Given the description of an element on the screen output the (x, y) to click on. 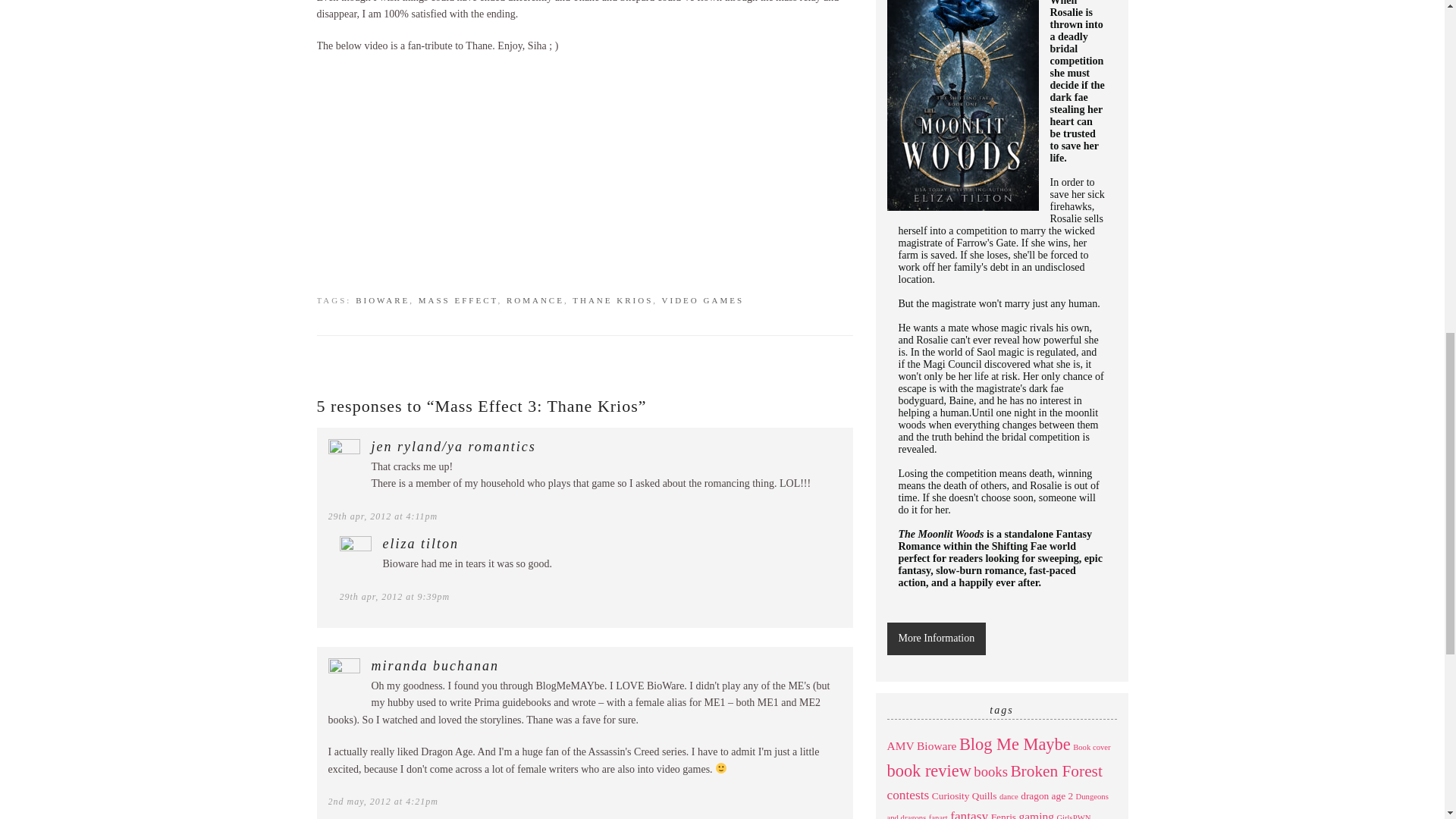
THANE KRIOS (612, 299)
miranda buchanan (435, 665)
eliza tilton (419, 543)
ROMANCE (535, 299)
29th apr, 2012 at 4:11pm (382, 516)
MASS EFFECT (458, 299)
2nd may, 2012 at 4:21pm (382, 801)
VIDEO GAMES (703, 299)
BIOWARE (382, 299)
29th apr, 2012 at 9:39pm (394, 596)
